Given the description of an element on the screen output the (x, y) to click on. 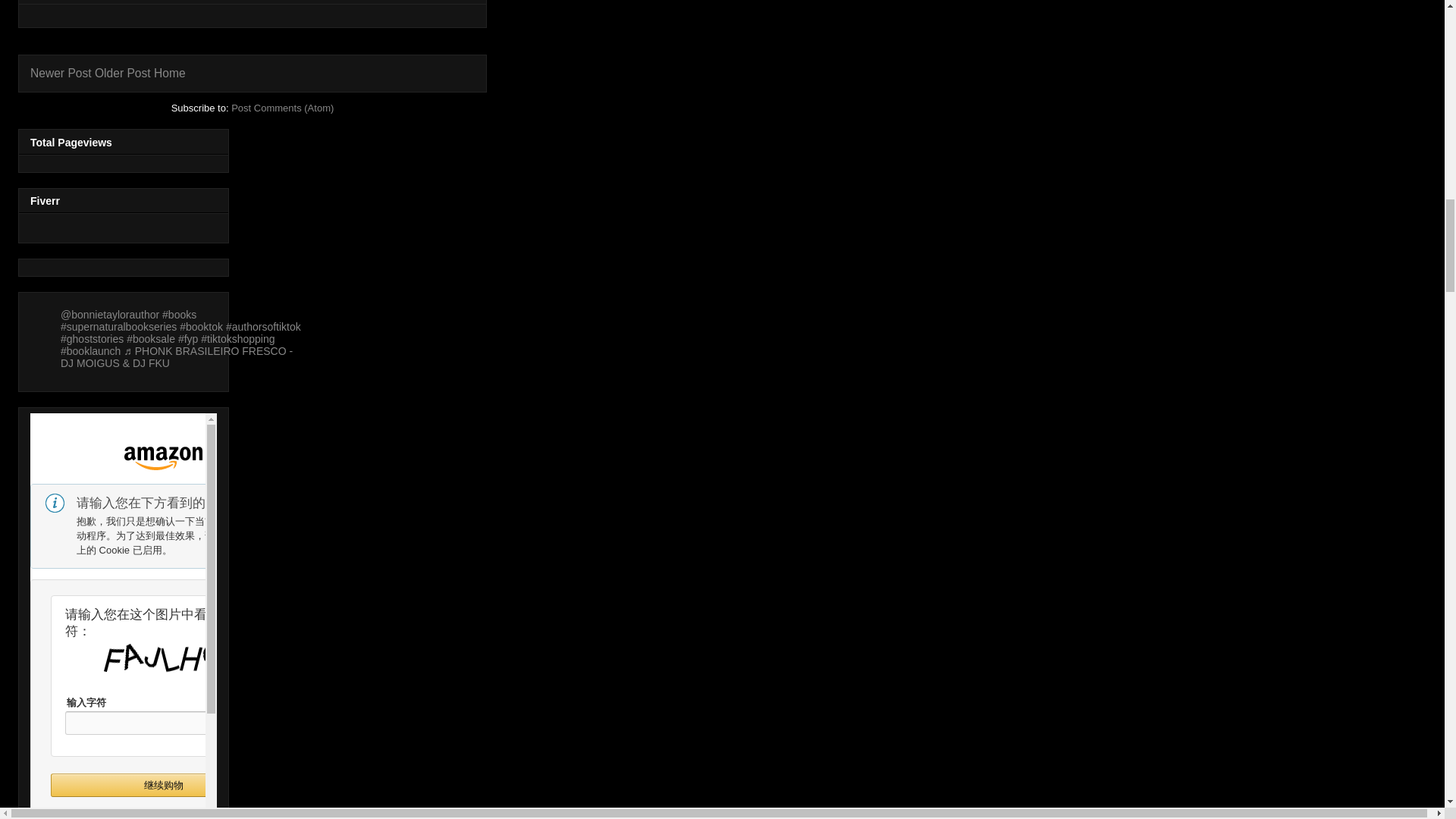
Newer Post (60, 72)
Older Post (122, 72)
Older Post (122, 72)
Home (170, 72)
Newer Post (60, 72)
